Given the description of an element on the screen output the (x, y) to click on. 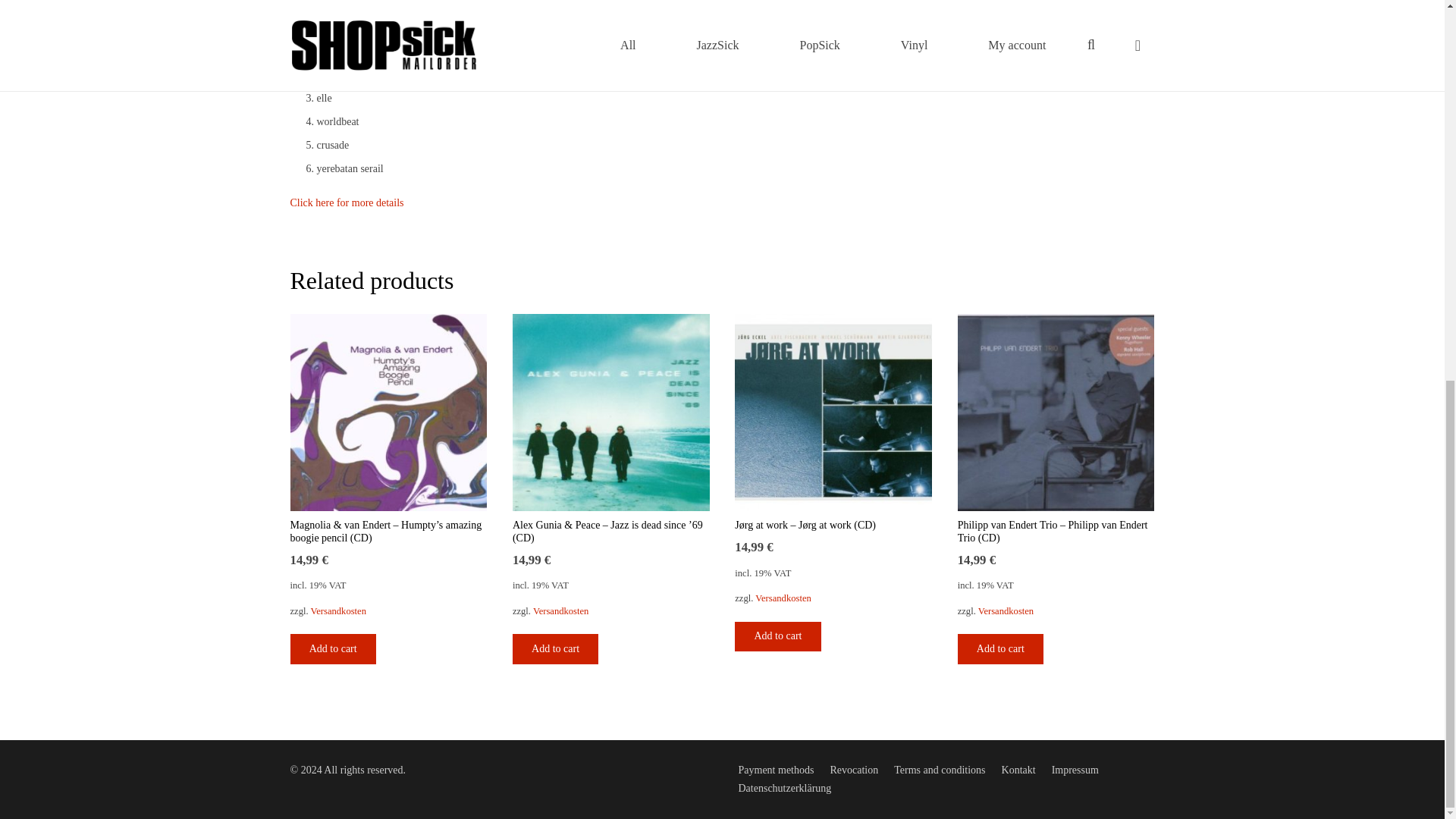
Versandkosten (560, 611)
Click here for more details (346, 202)
Payment methods (775, 769)
Versandkosten (1005, 611)
Add to cart (778, 636)
Terms and conditions (939, 769)
Add to cart (332, 648)
Back to top (1413, 136)
Kontakt (1018, 769)
Revocation (853, 769)
Add to cart (1000, 648)
Impressum (1075, 769)
Versandkosten (338, 611)
Add to cart (555, 648)
Versandkosten (782, 597)
